Given the description of an element on the screen output the (x, y) to click on. 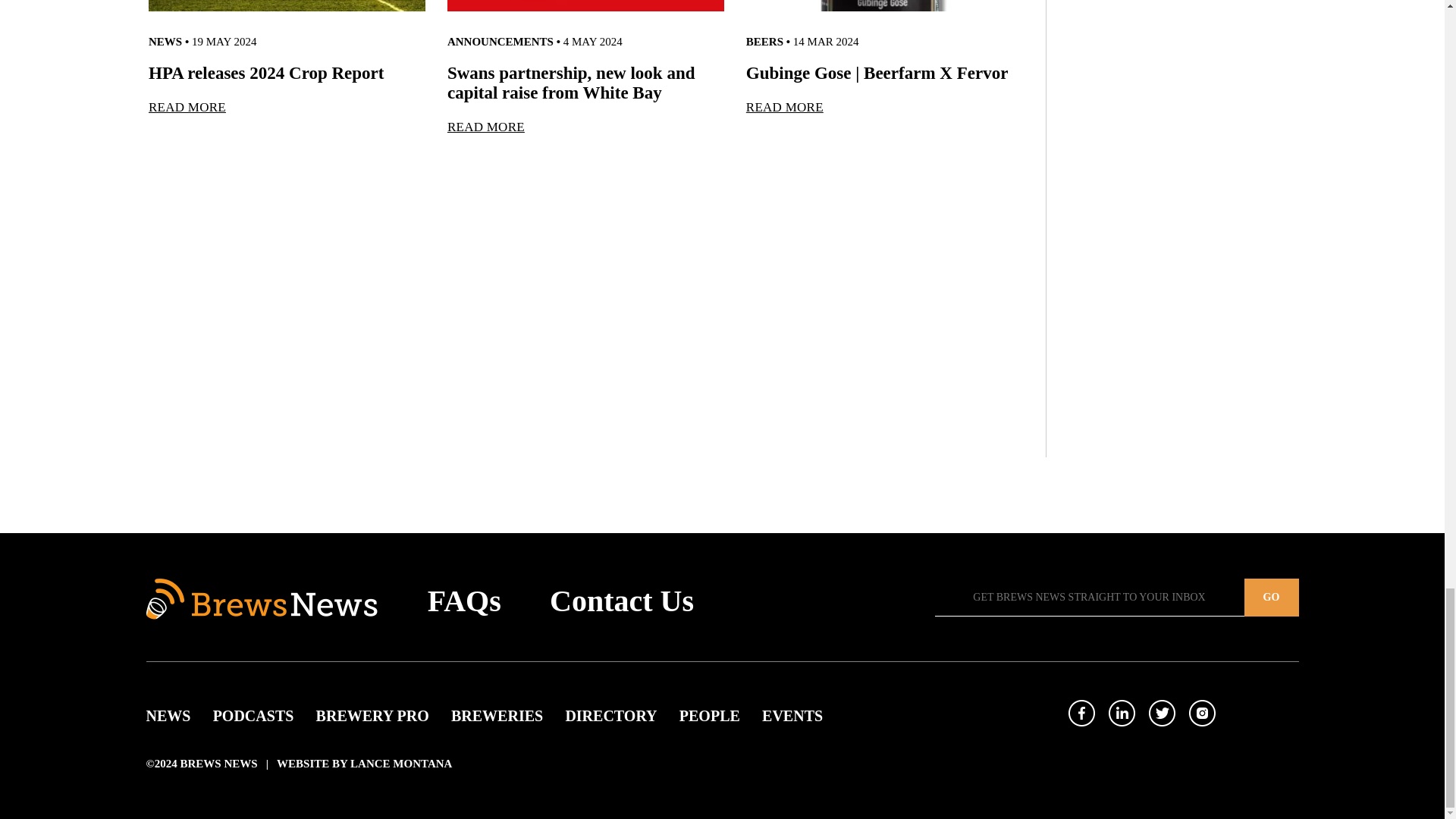
Go (1270, 597)
